Given the description of an element on the screen output the (x, y) to click on. 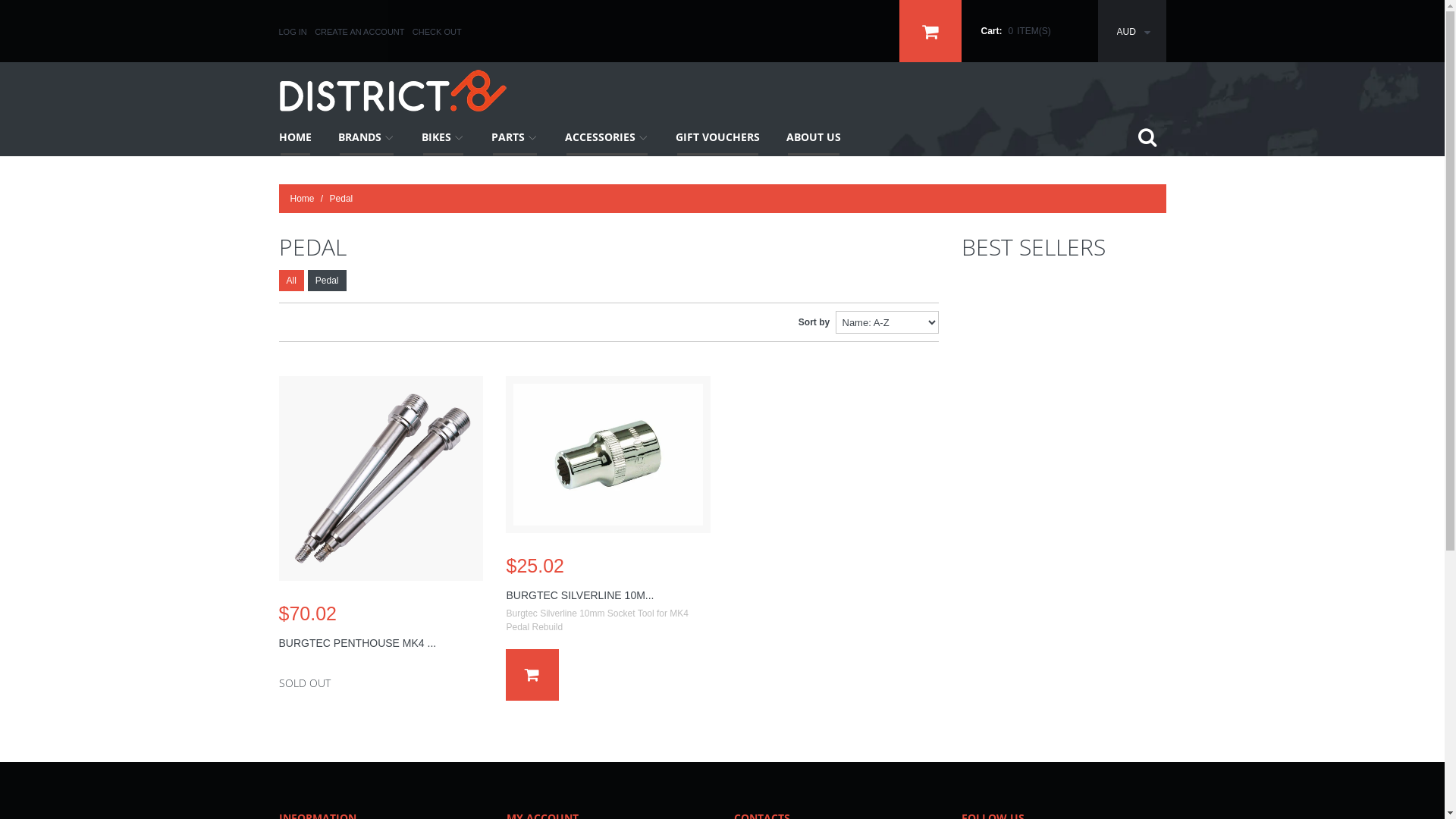
All Element type: text (291, 280)
BIKES Element type: text (442, 137)
Pedal Element type: text (326, 280)
ACCESSORIES Element type: text (606, 137)
ABOUT US Element type: text (813, 137)
Home Element type: text (301, 198)
GIFT VOUCHERS Element type: text (717, 137)
Cart:0ITEM(S) Element type: text (998, 31)
PARTS Element type: text (514, 137)
CHECK OUT Element type: text (436, 31)
CREATE AN ACCOUNT Element type: text (359, 31)
BURGTEC PENTHOUSE MK4 ... Element type: text (357, 643)
BURGTEC SILVERLINE 10M... Element type: text (579, 595)
LOG IN Element type: text (293, 31)
BRANDS Element type: text (365, 137)
HOME Element type: text (294, 137)
